Given the description of an element on the screen output the (x, y) to click on. 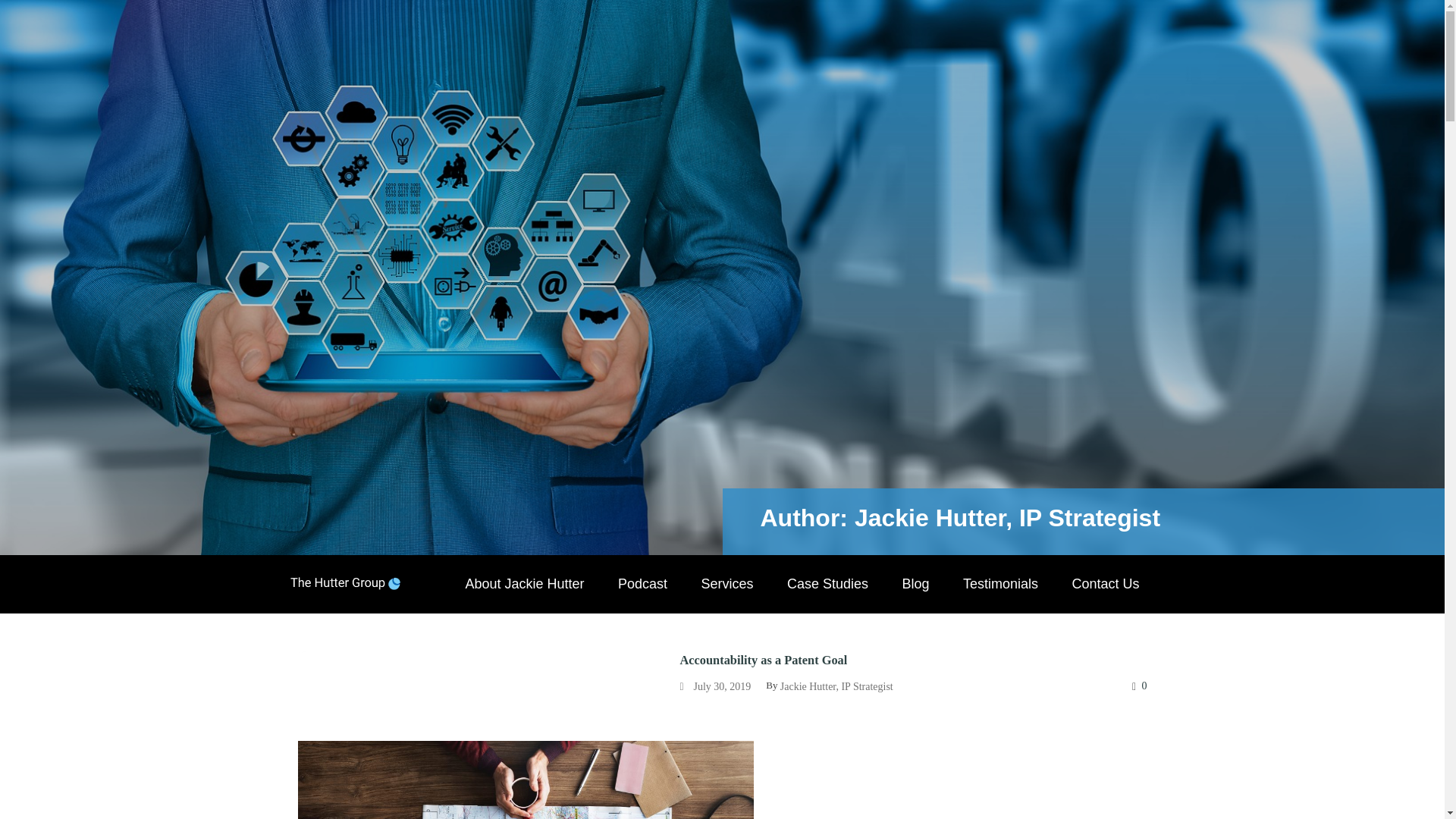
Case Studies (827, 584)
The Hutter Group LLC (344, 581)
Services (726, 584)
Blog (914, 584)
Accountability as a Patent Goal (763, 659)
July 30, 2019 (722, 686)
Contact Us (1105, 584)
Podcast (642, 584)
Testimonials (999, 584)
Jackie Hutter, IP Strategist (836, 686)
About Jackie Hutter (523, 584)
